Given the description of an element on the screen output the (x, y) to click on. 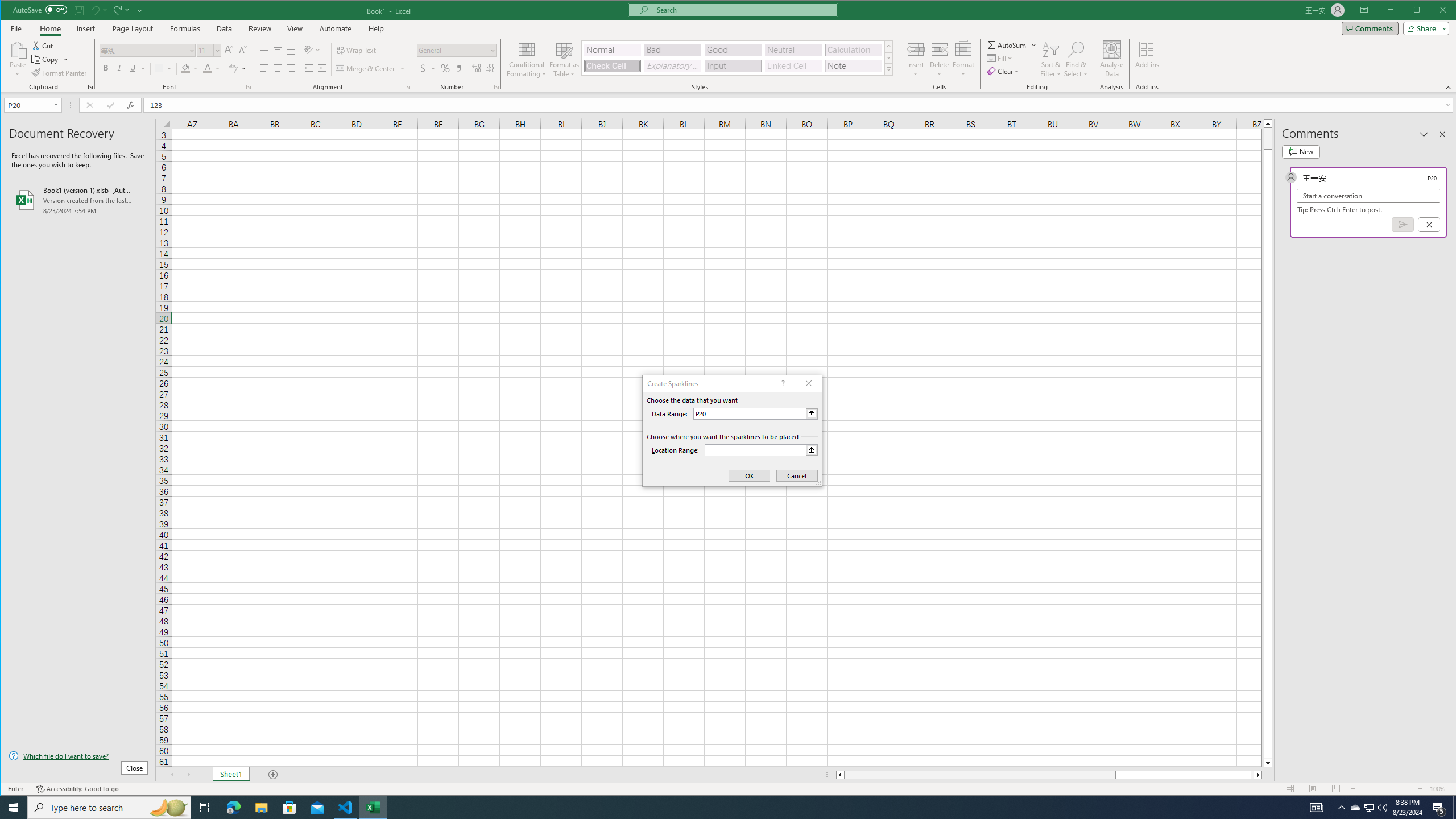
Accounting Number Format (422, 68)
Font Color (211, 68)
Copy (50, 59)
Sum (1007, 44)
Center (276, 68)
Paste (17, 48)
Good (732, 49)
Close pane (1441, 133)
Automate (336, 28)
Increase Font Size (228, 49)
